Given the description of an element on the screen output the (x, y) to click on. 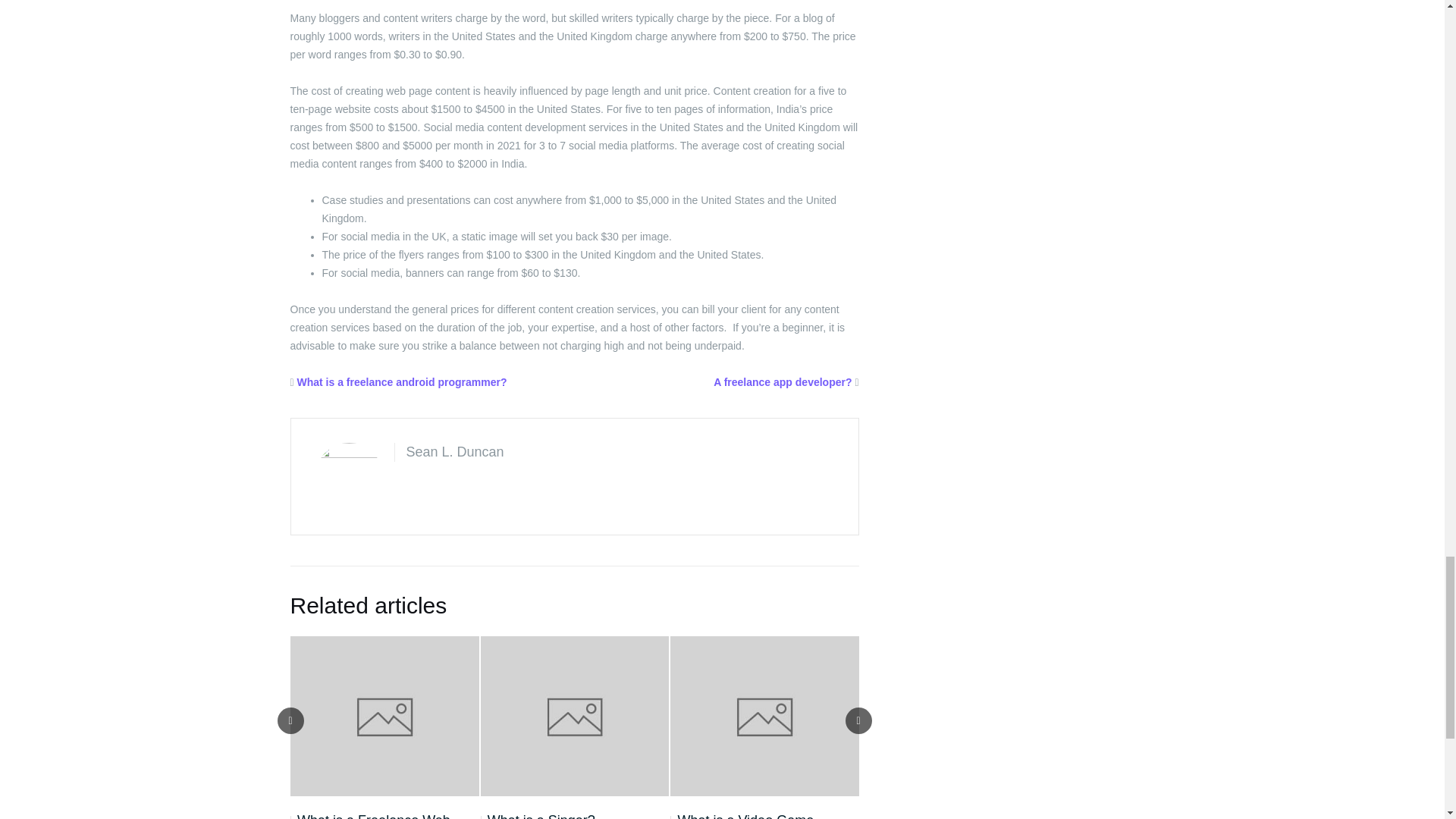
A freelance app developer? (782, 381)
What is a Singer? (537, 815)
What is a freelance android programmer? (401, 381)
